Given the description of an element on the screen output the (x, y) to click on. 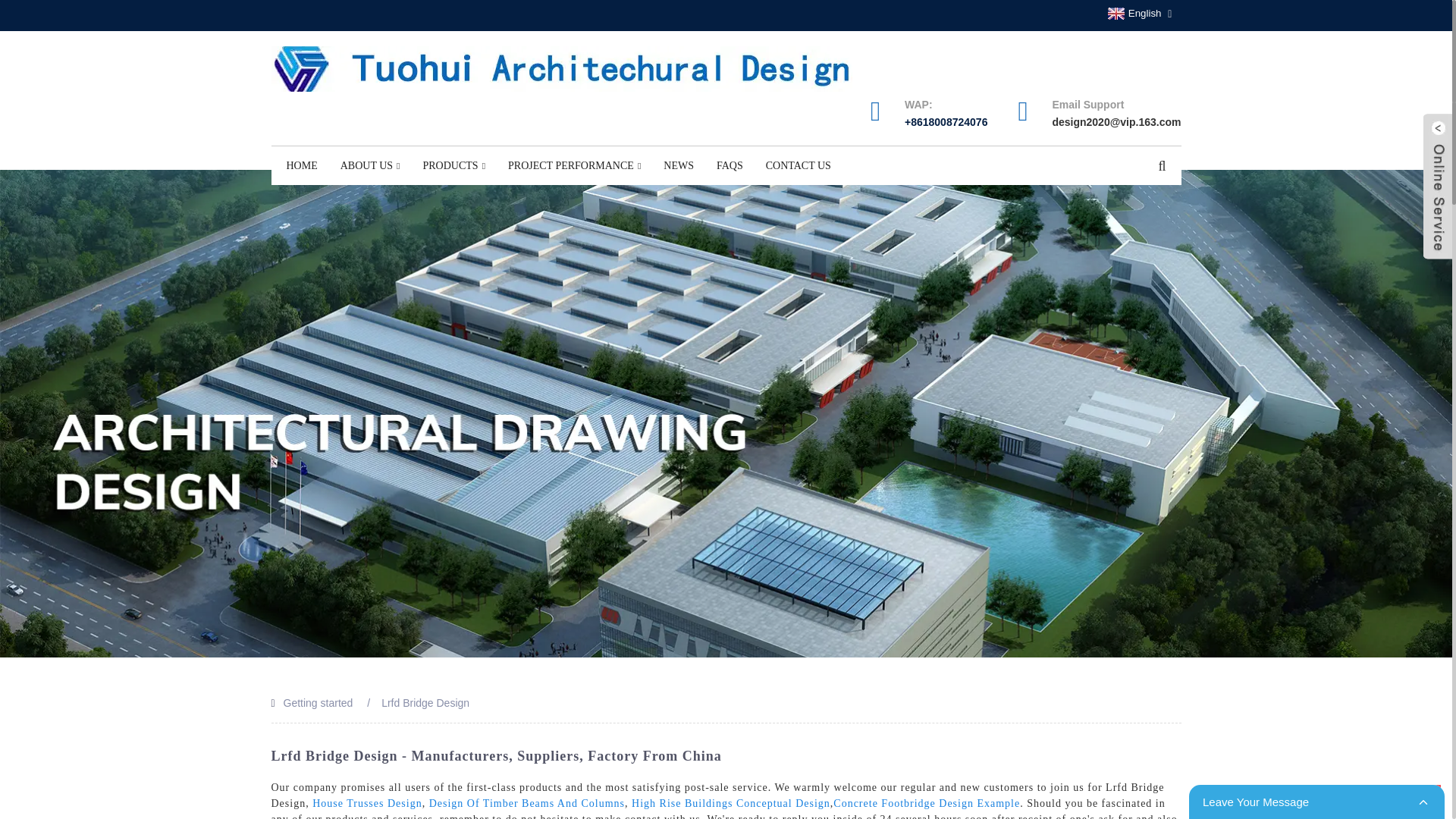
PROJECT PERFORMANCE (574, 166)
NEWS (678, 166)
Getting started (318, 702)
ABOUT US (370, 166)
House Trusses Design (367, 803)
Design Of Timber Beams And Columns (526, 803)
High Rise Buildings Conceptual Design (730, 803)
CONTACT US (798, 166)
Concrete Footbridge Design Example (926, 803)
House Trusses Design (367, 803)
Concrete Footbridge Design Example (926, 803)
English (1132, 13)
PRODUCTS (453, 166)
Design Of Timber Beams And Columns (526, 803)
Lrfd Bridge Design (424, 702)
